Given the description of an element on the screen output the (x, y) to click on. 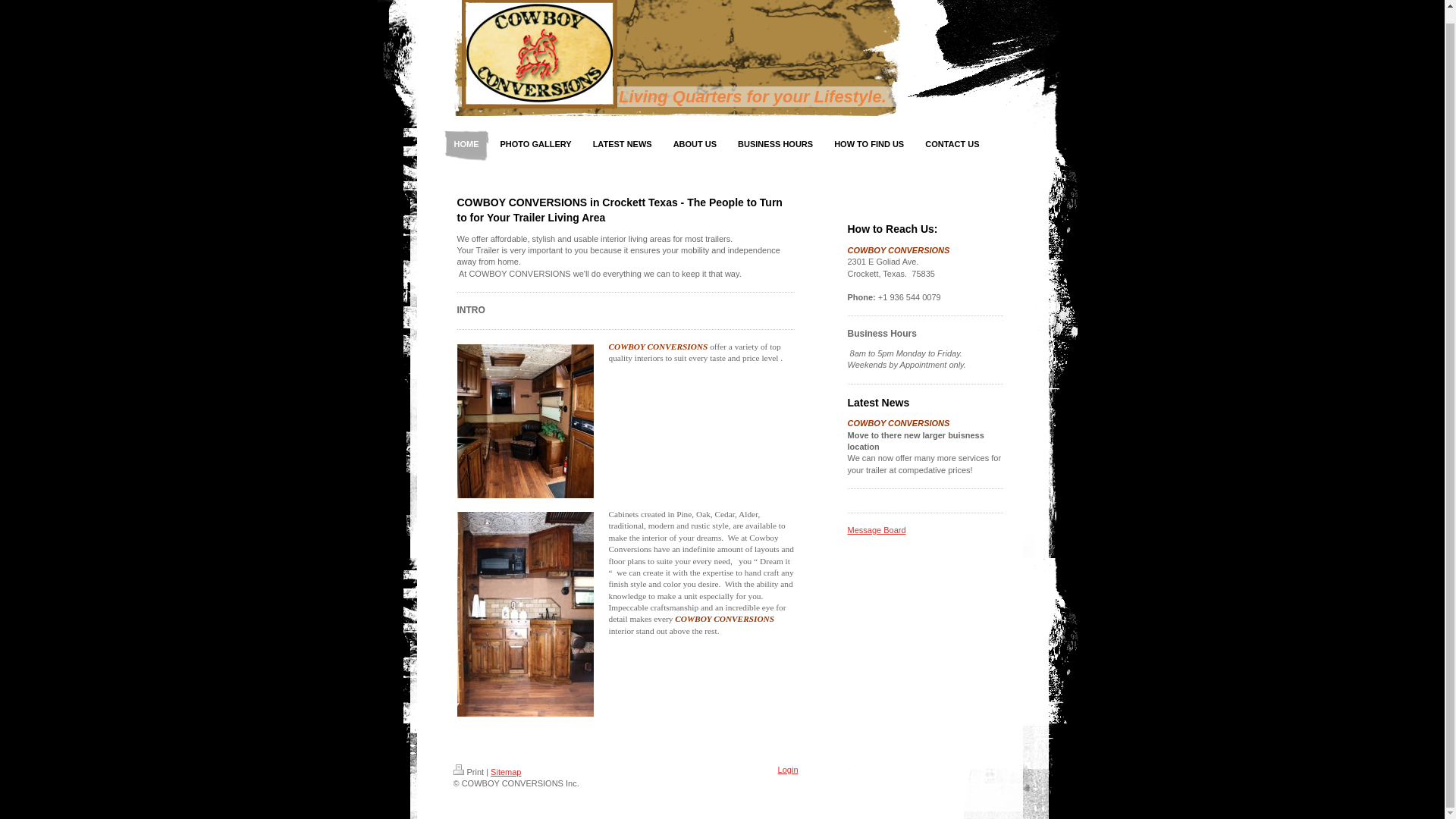
Sitemap (505, 771)
Living Quarters for your Lifestyle. (752, 96)
Login (787, 768)
Print (468, 771)
Message Board (876, 529)
CONTACT US (952, 144)
BUSINESS HOURS (775, 144)
HOW TO FIND US (869, 144)
HOME (465, 144)
ABOUT US (694, 144)
PHOTO GALLERY (535, 144)
LATEST NEWS (622, 144)
